Given the description of an element on the screen output the (x, y) to click on. 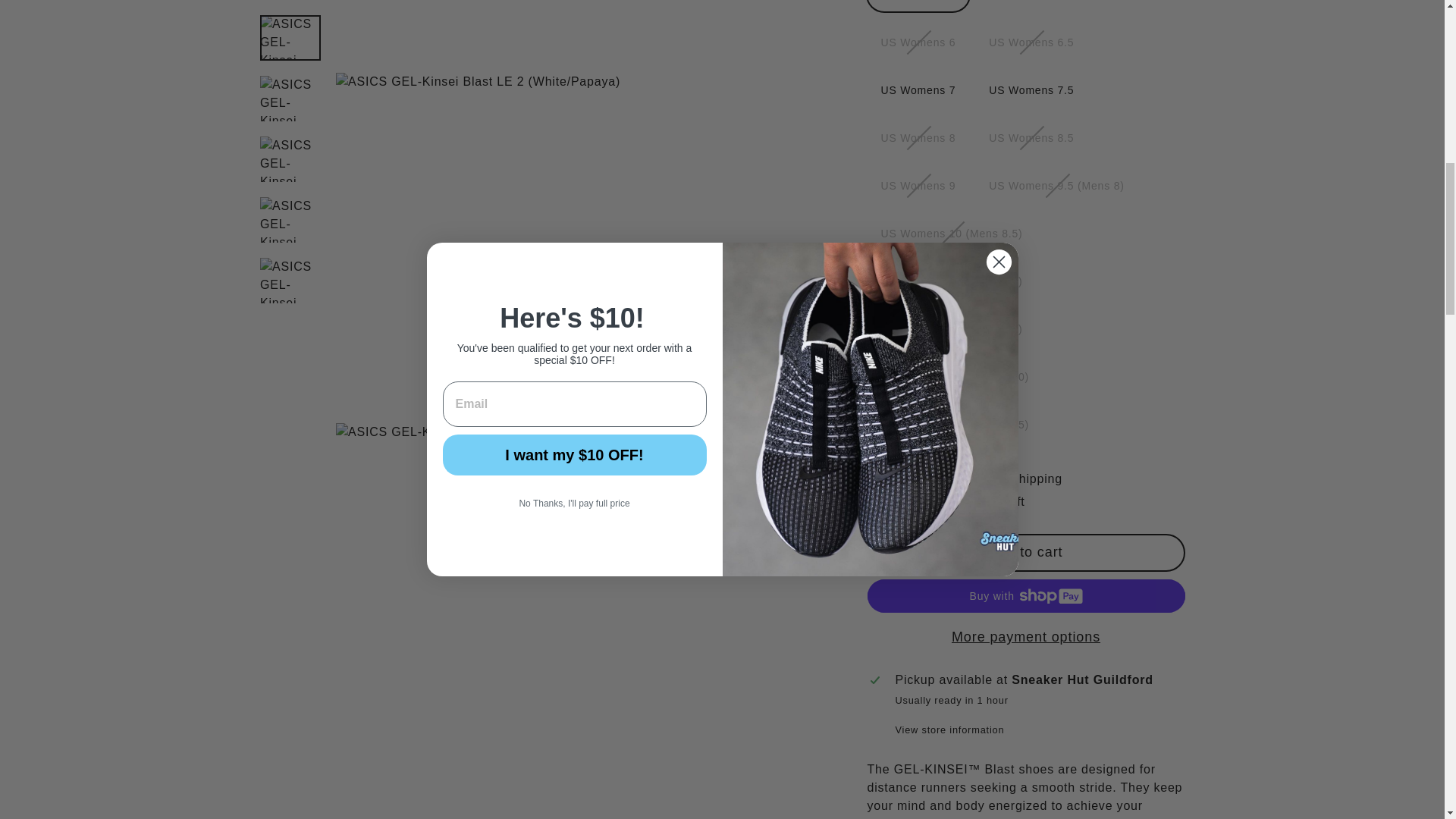
Womens Sneakers (952, 666)
mens (952, 666)
Sneaker Location (906, 684)
Share on Facebook (952, 770)
Sneaker SHipping (913, 721)
Pin on Pinterest (1102, 770)
Tweet on Twitter (1028, 770)
Add to cart (1026, 230)
Online Sneakers (1108, 666)
Mens Sneakers (1006, 666)
women (1006, 666)
MENU (162, 46)
online (1108, 666)
More payment options (1026, 314)
